Given the description of an element on the screen output the (x, y) to click on. 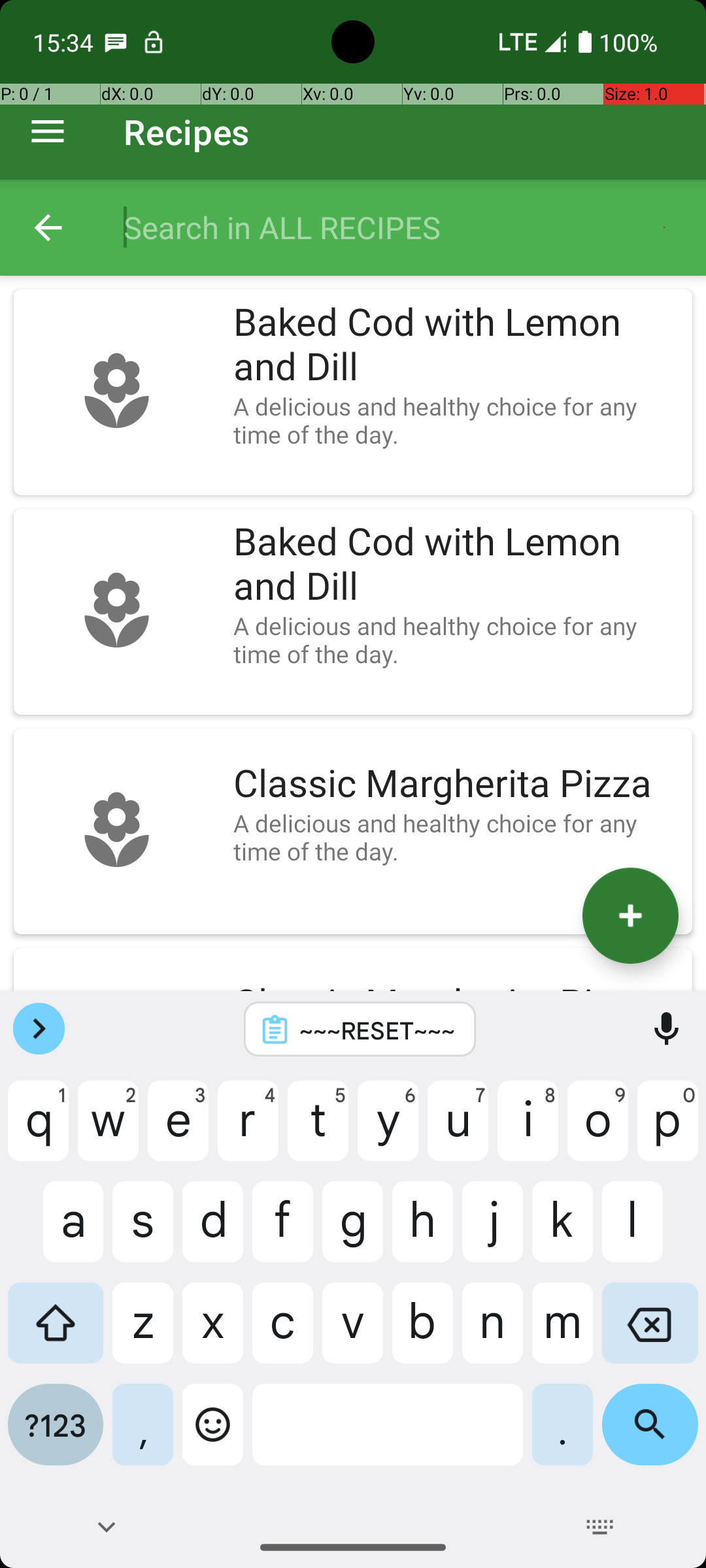
Search in ALL RECIPES Element type: android.widget.AutoCompleteTextView (400, 227)
